Given the description of an element on the screen output the (x, y) to click on. 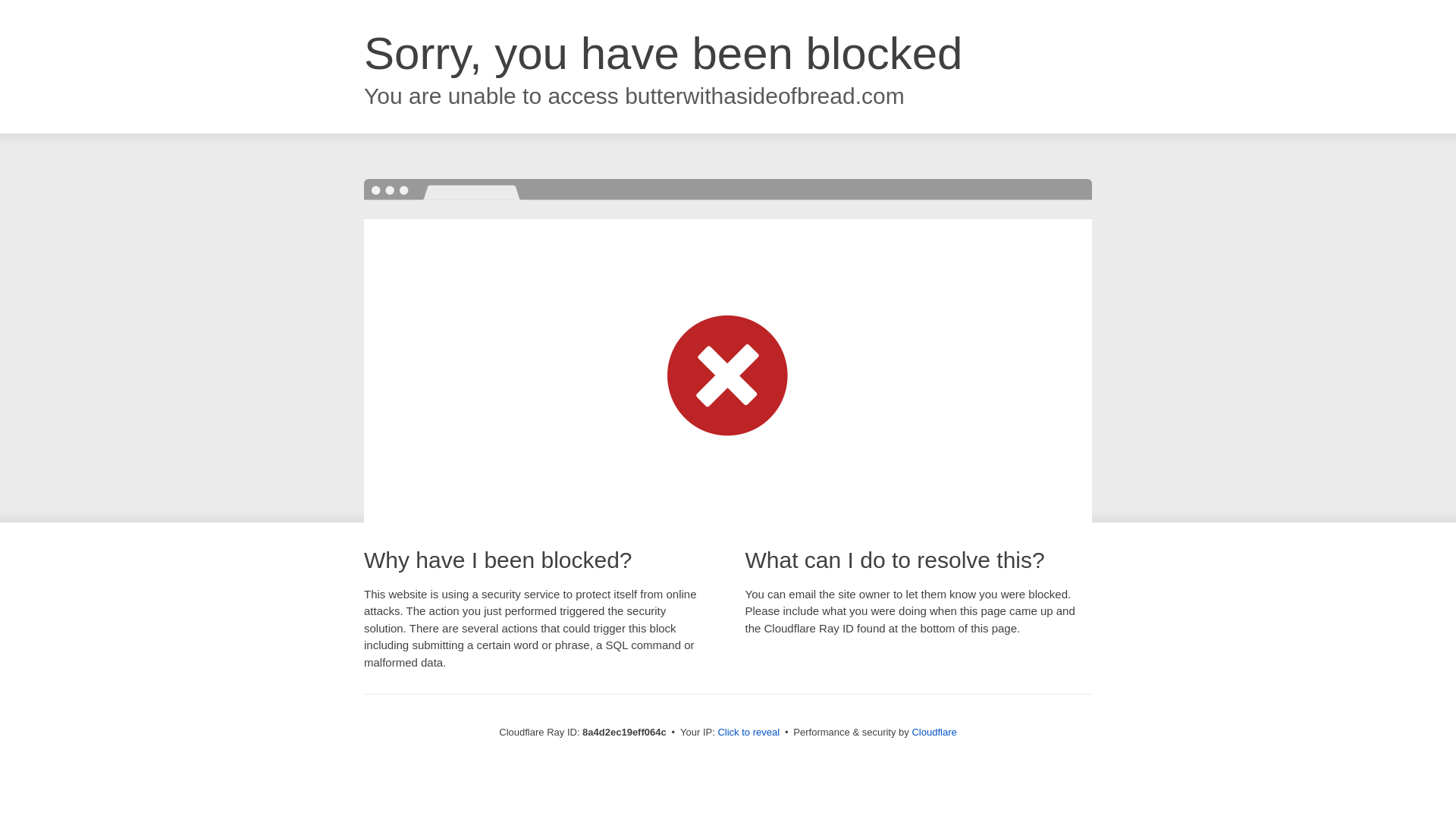
Cloudflare (933, 731)
Click to reveal (747, 732)
